Given the description of an element on the screen output the (x, y) to click on. 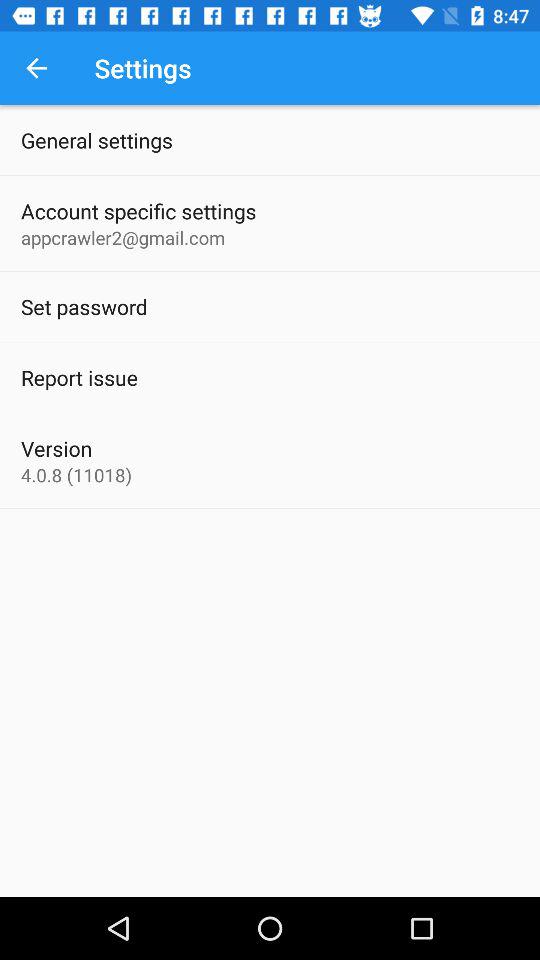
select icon above the general settings (36, 68)
